Given the description of an element on the screen output the (x, y) to click on. 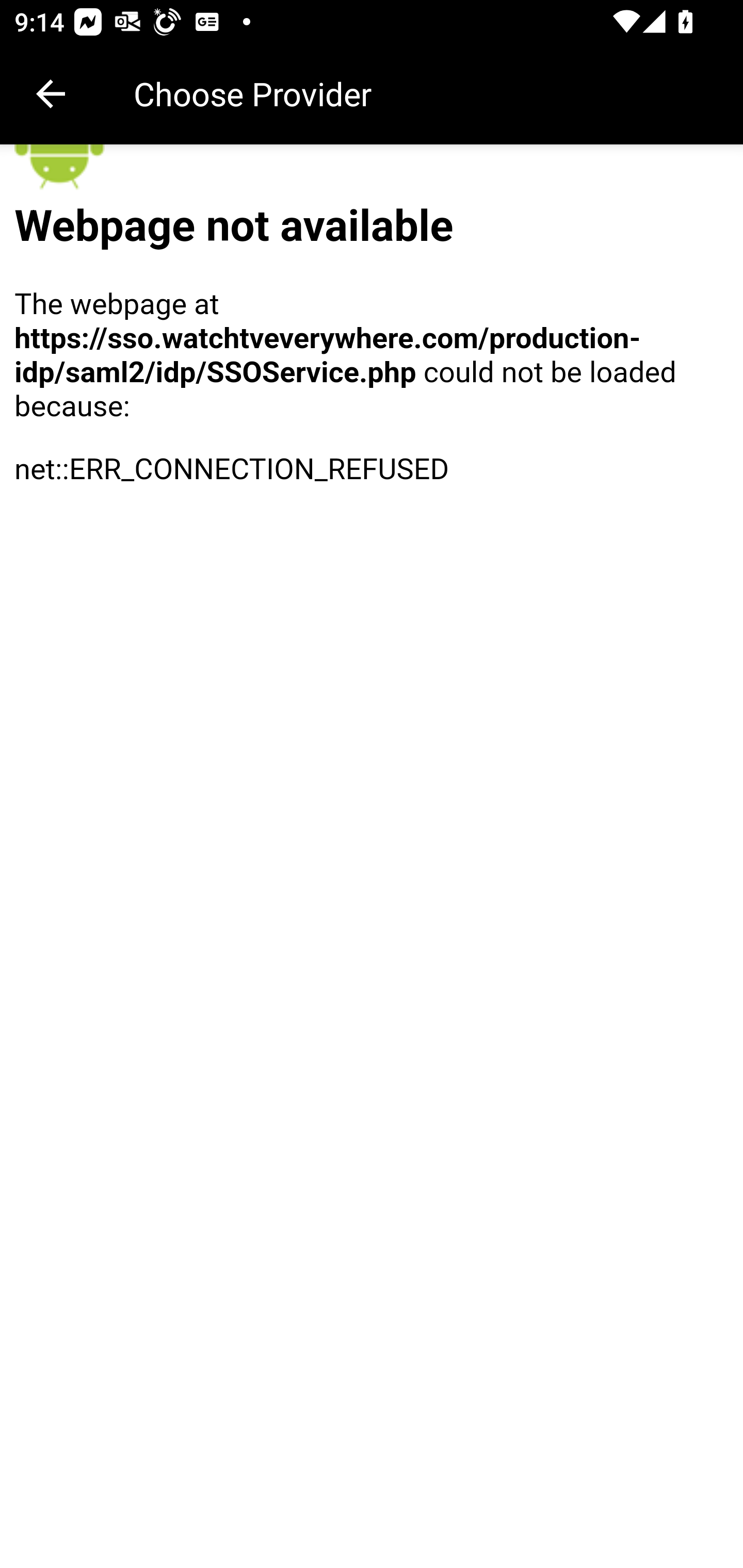
Navigate up (50, 93)
